Given the description of an element on the screen output the (x, y) to click on. 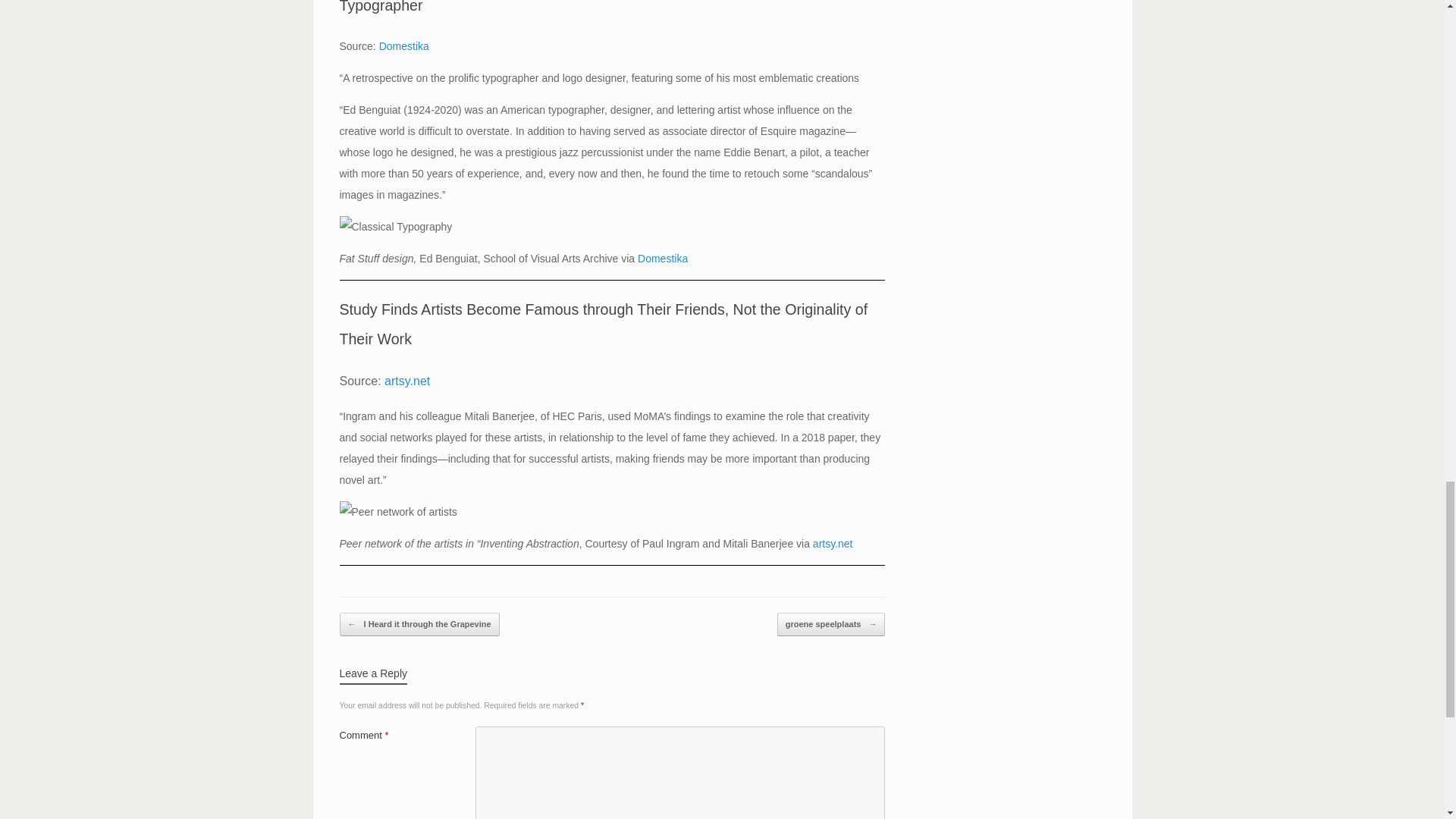
artsy.net (832, 543)
artsy.net (406, 380)
Domestika (662, 258)
Domestika (403, 46)
